Given the description of an element on the screen output the (x, y) to click on. 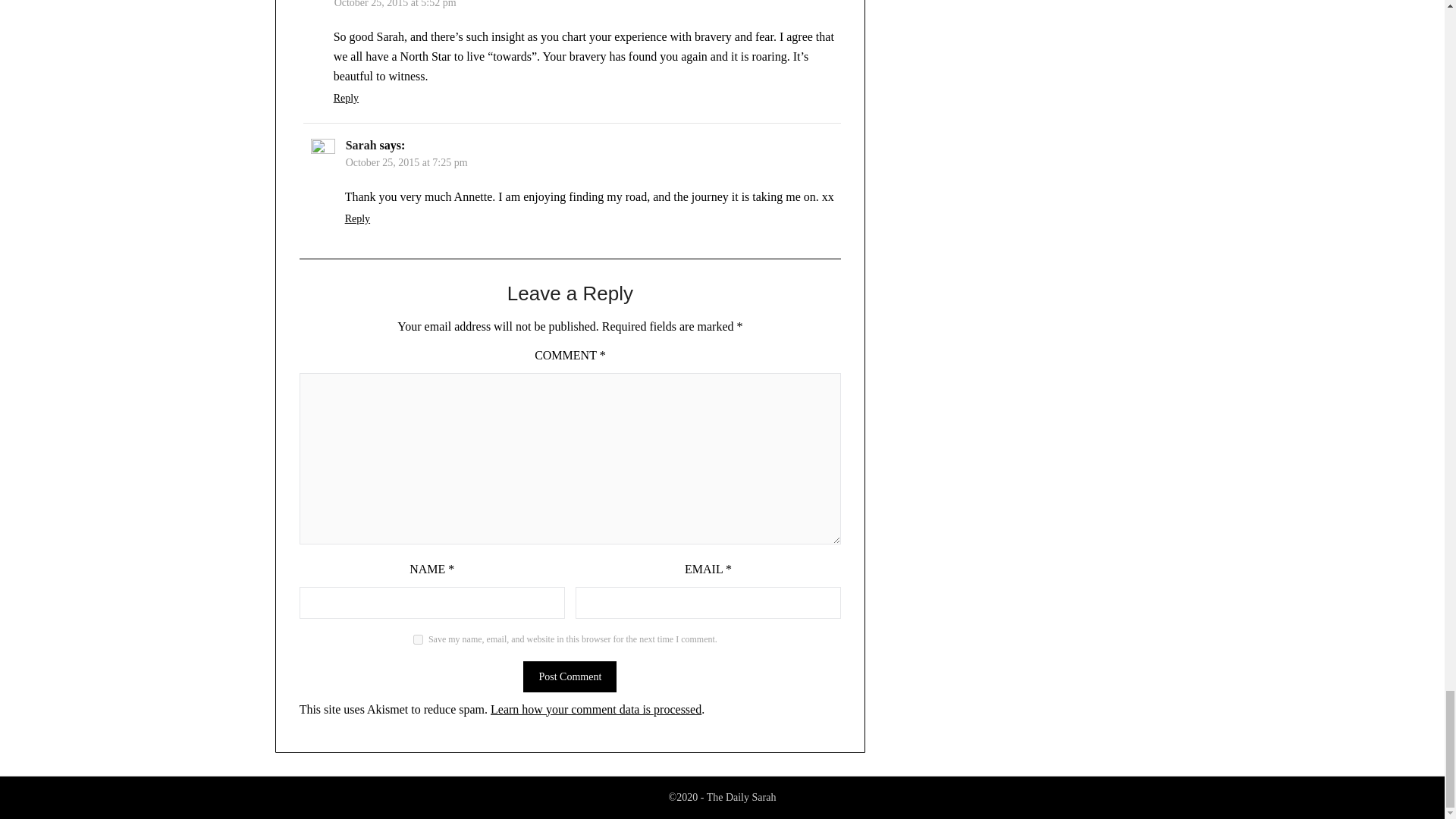
yes (418, 639)
Post Comment (568, 676)
